Given the description of an element on the screen output the (x, y) to click on. 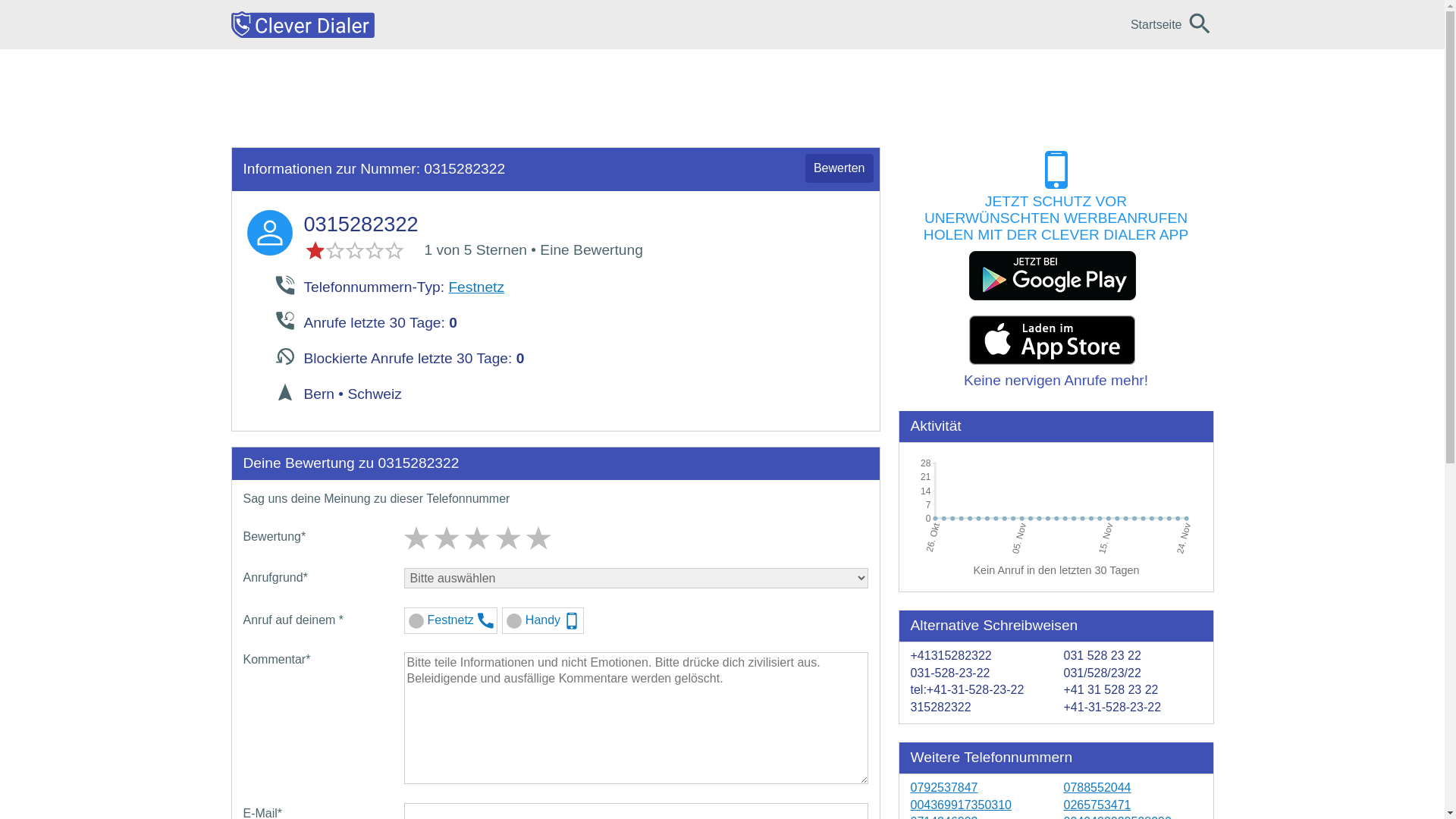
0315282322 - Infos zur Rufnummer aus Bern Element type: hover (269, 232)
0792537847 Element type: text (943, 787)
0788552044 Element type: text (1096, 787)
0265753471 Element type: text (1096, 804)
Telefonnummern-Typ Element type: hover (284, 283)
Bern - Schweiz Element type: hover (284, 390)
Startseite Element type: text (1156, 24)
Festnetz Element type: text (476, 286)
Bewerten Element type: text (839, 167)
004369917350310 Element type: text (960, 804)
